Given the description of an element on the screen output the (x, y) to click on. 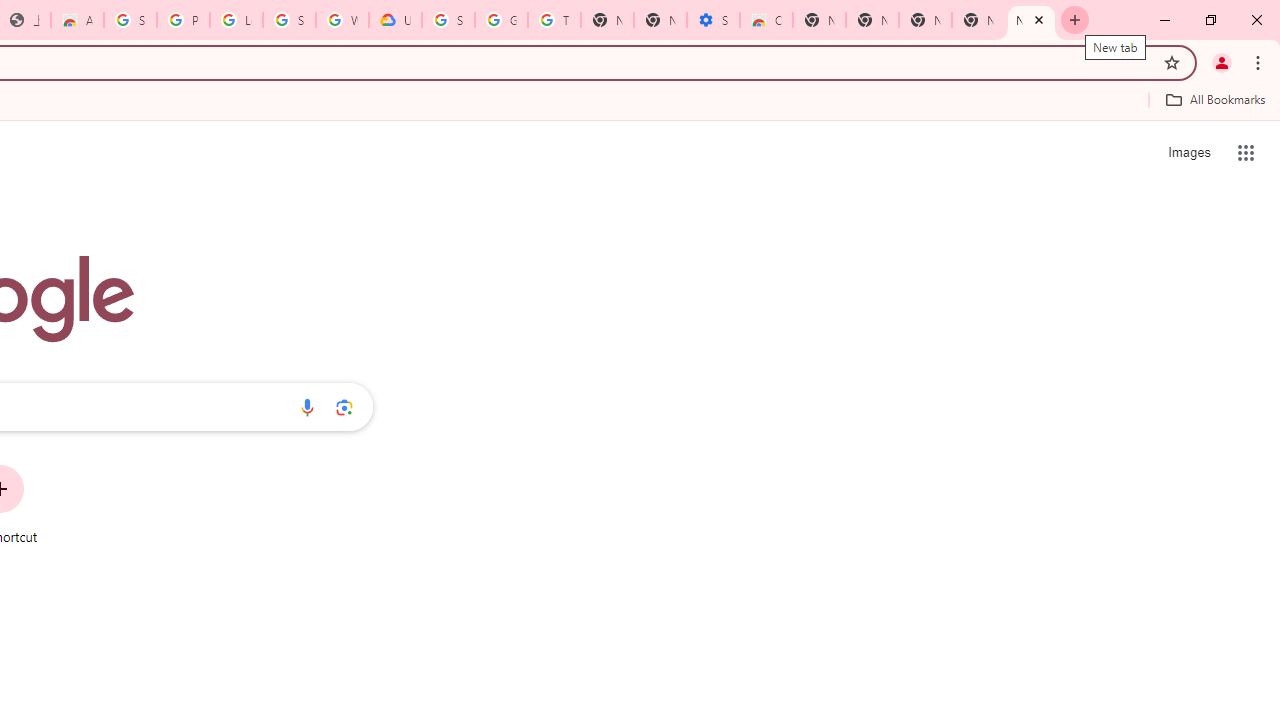
New Tab (925, 20)
Sign in - Google Accounts (448, 20)
Google Account Help (501, 20)
New Tab (1031, 20)
